Given the description of an element on the screen output the (x, y) to click on. 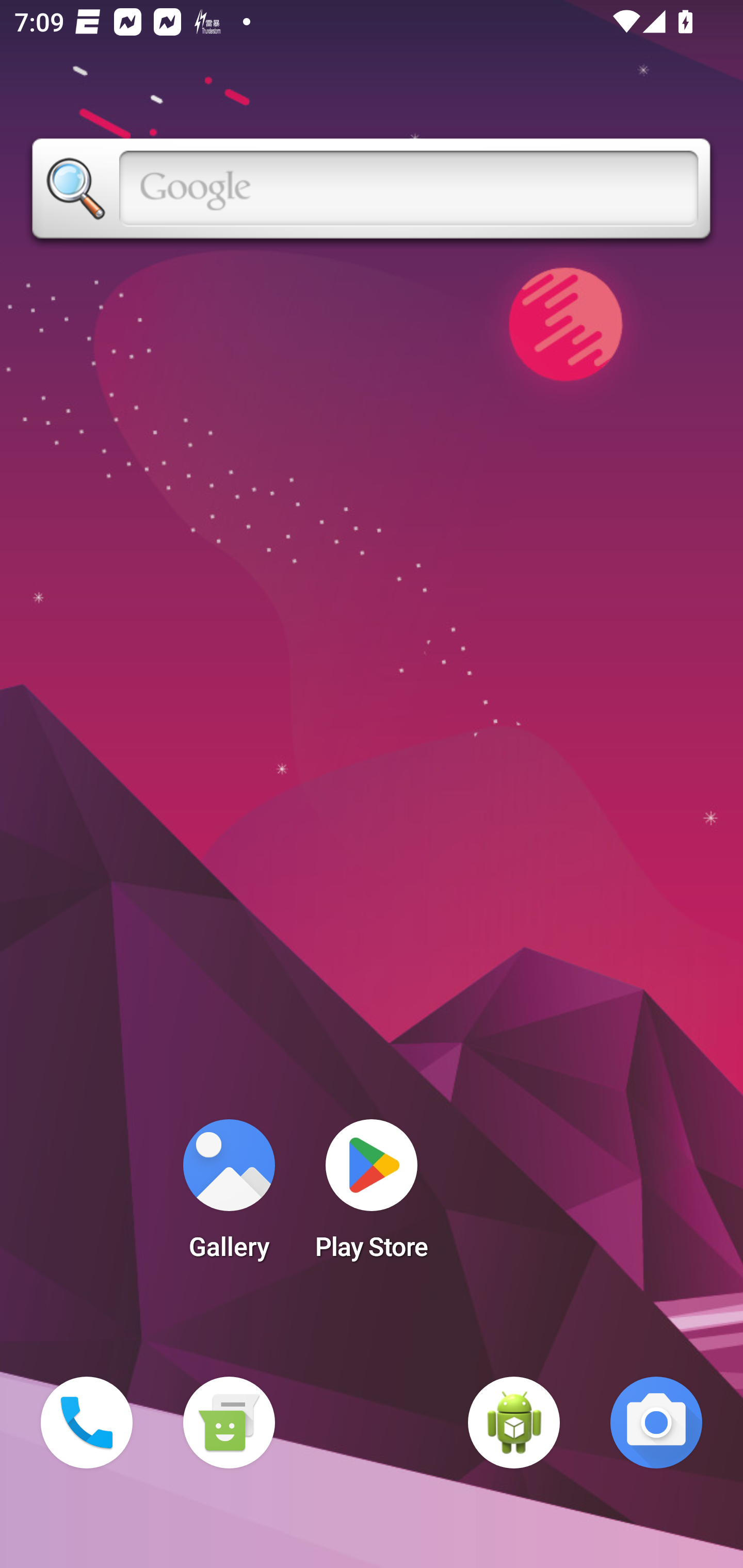
Gallery (228, 1195)
Play Store (371, 1195)
Phone (86, 1422)
Messaging (228, 1422)
WebView Browser Tester (513, 1422)
Camera (656, 1422)
